Given the description of an element on the screen output the (x, y) to click on. 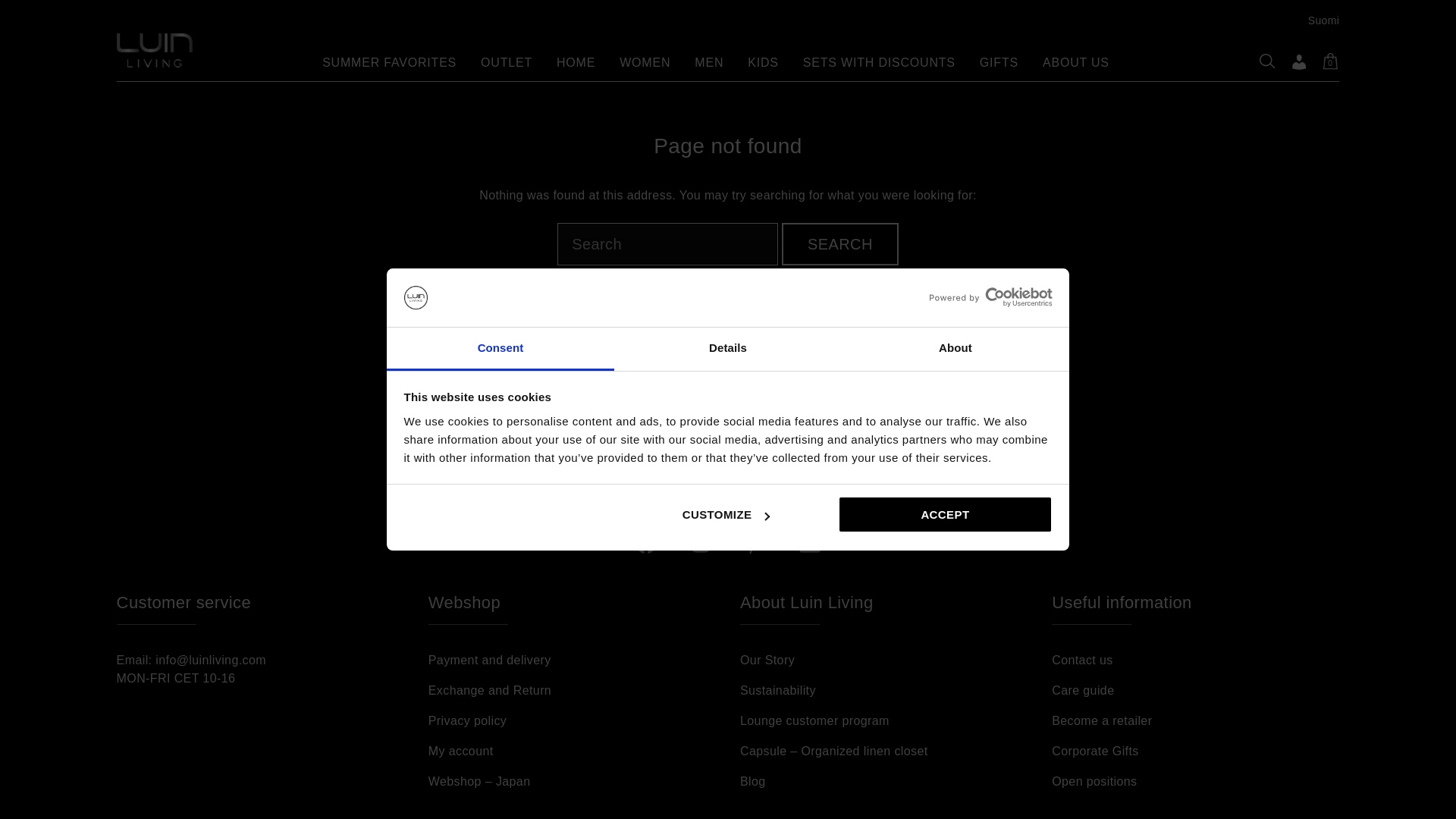
Consent (500, 349)
Search (839, 243)
Search (839, 243)
About (954, 349)
Details (727, 349)
View your shopping cart (1329, 61)
